Given the description of an element on the screen output the (x, y) to click on. 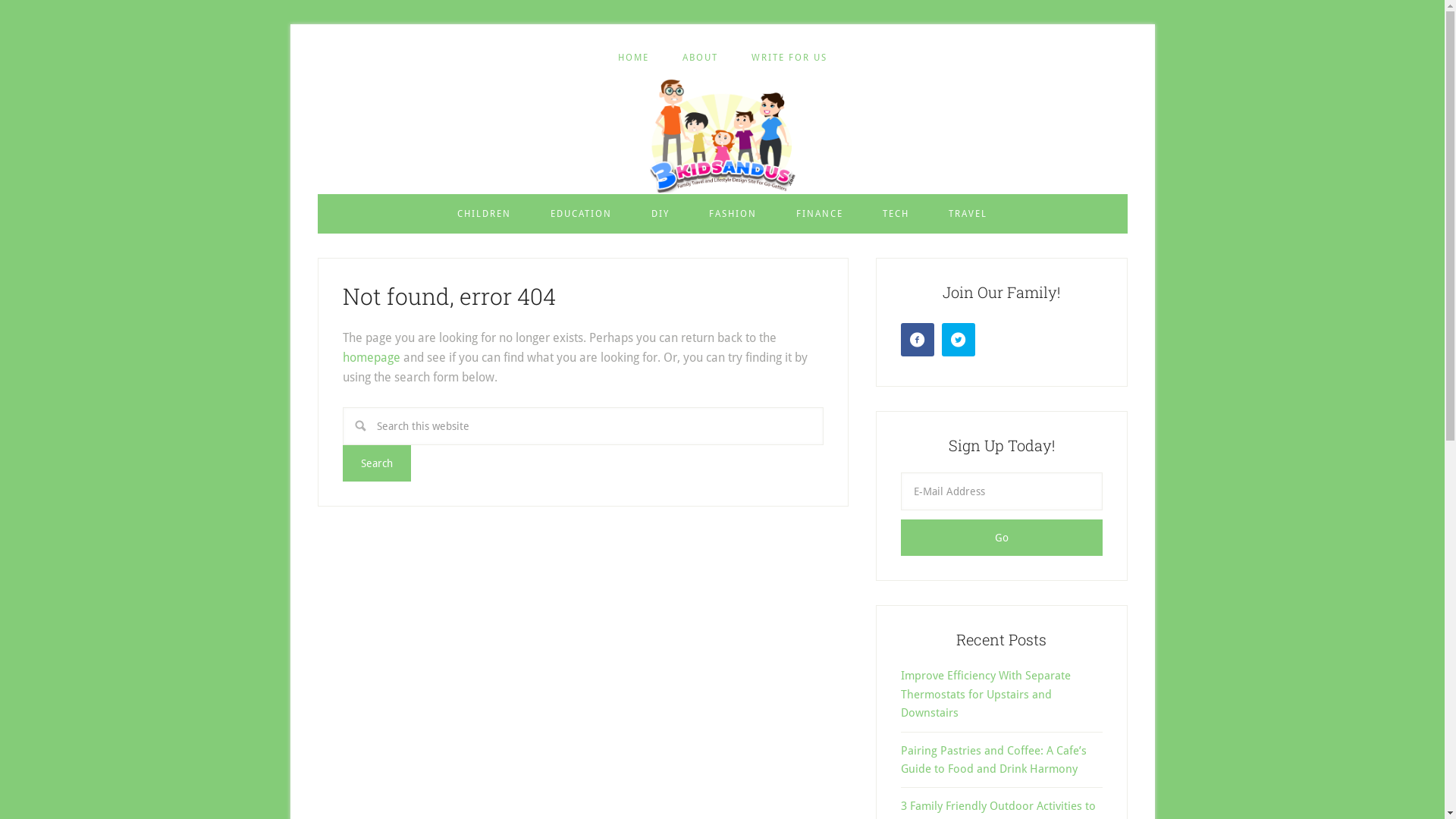
HOME Element type: text (632, 57)
3 Kids and Us Element type: text (721, 135)
Go Element type: text (1001, 537)
TRAVEL Element type: text (967, 213)
FASHION Element type: text (732, 213)
FINANCE Element type: text (819, 213)
ABOUT Element type: text (700, 57)
TECH Element type: text (895, 213)
WRITE FOR US Element type: text (788, 57)
EDUCATION Element type: text (581, 213)
Search Element type: text (376, 463)
CHILDREN Element type: text (484, 213)
DIY Element type: text (660, 213)
homepage Element type: text (371, 357)
